Given the description of an element on the screen output the (x, y) to click on. 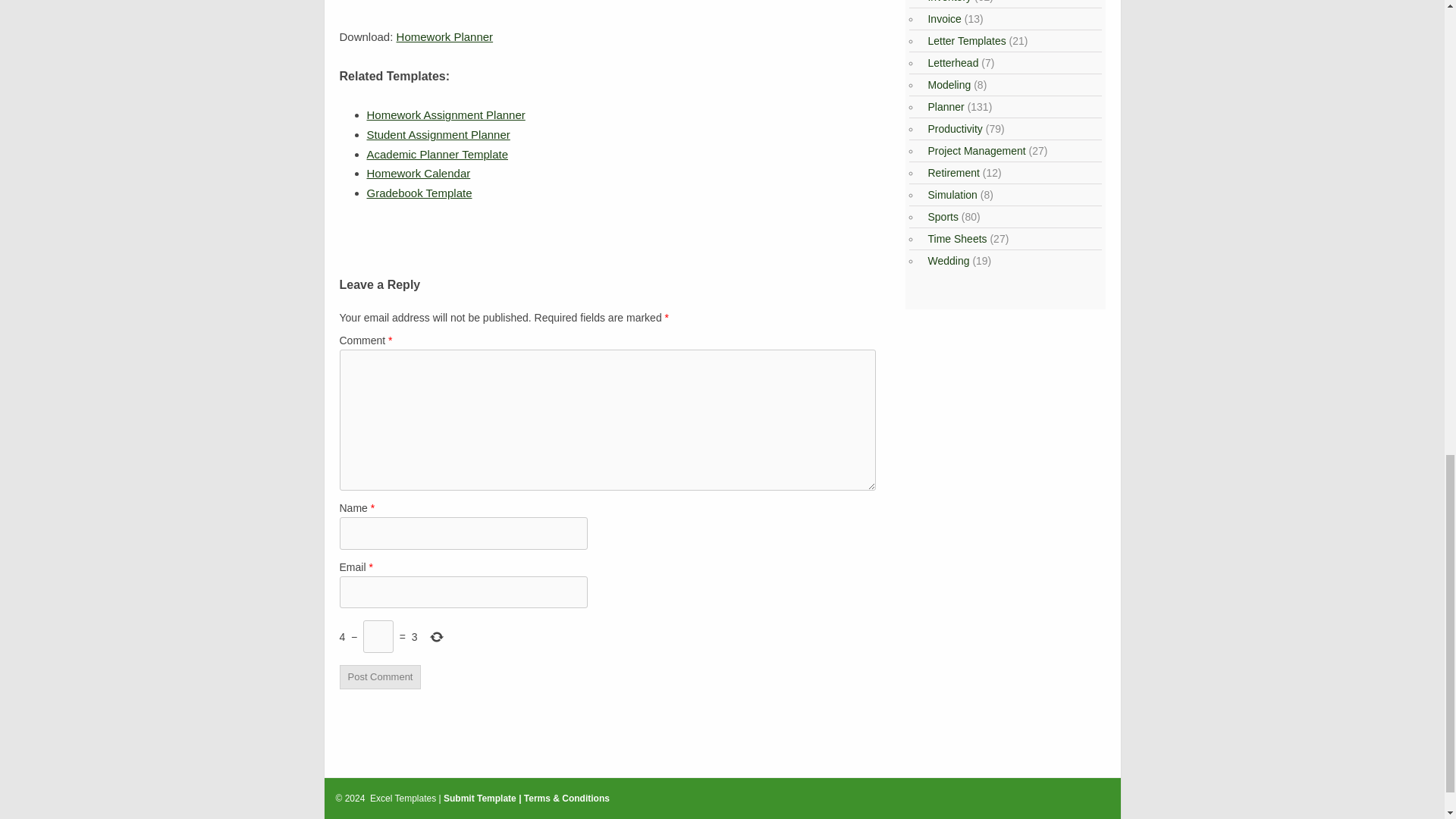
Homework Planner (444, 36)
December 9, 2015 (418, 173)
Homework Assignment Planner (445, 114)
February 28, 2013 (418, 192)
July 31, 2013 (438, 133)
Gradebook Template (418, 192)
Post Comment (380, 677)
Post Comment (380, 677)
August 10, 2015 (445, 114)
Homework Calendar (418, 173)
